Given the description of an element on the screen output the (x, y) to click on. 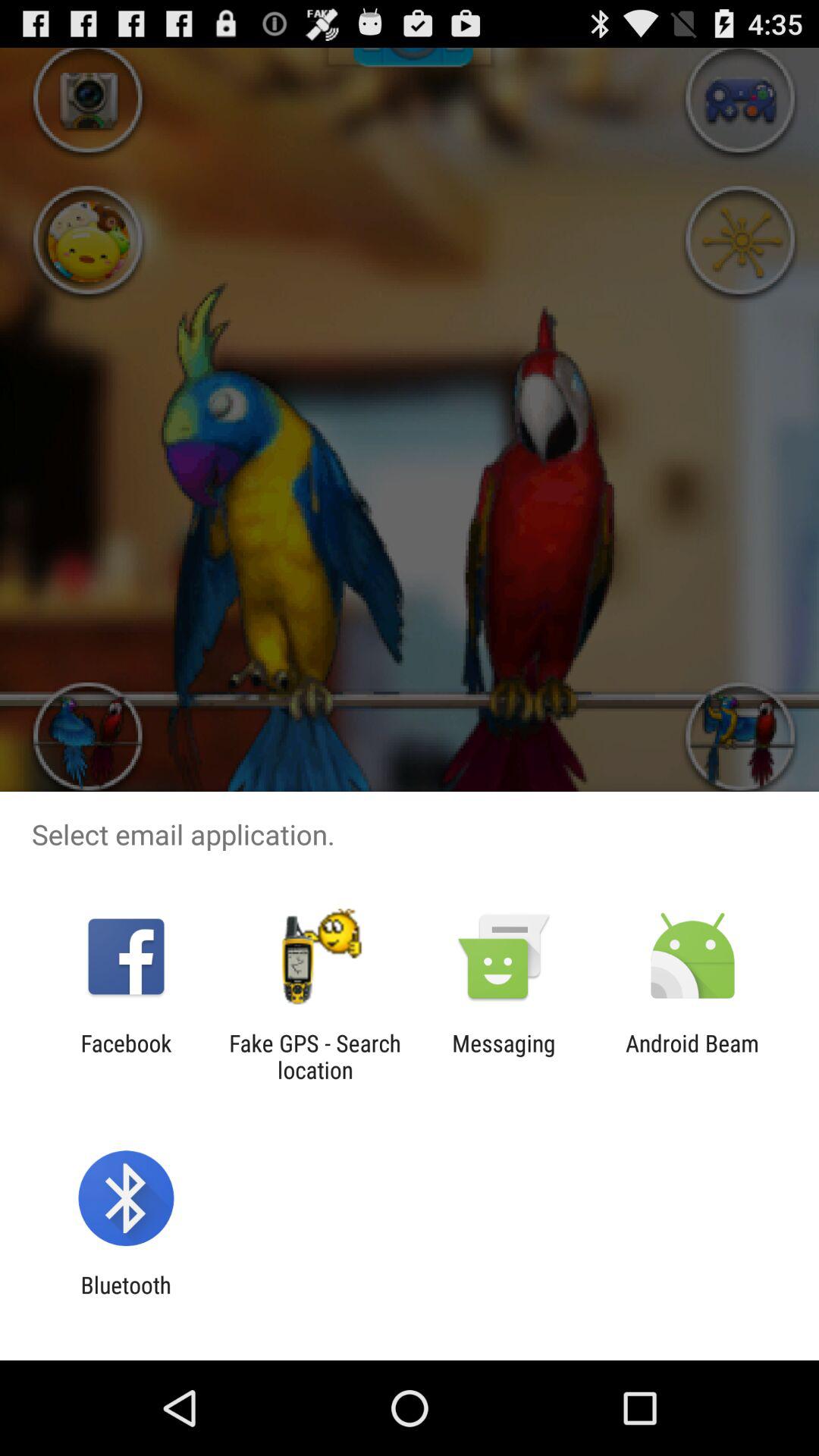
scroll to facebook item (125, 1056)
